Given the description of an element on the screen output the (x, y) to click on. 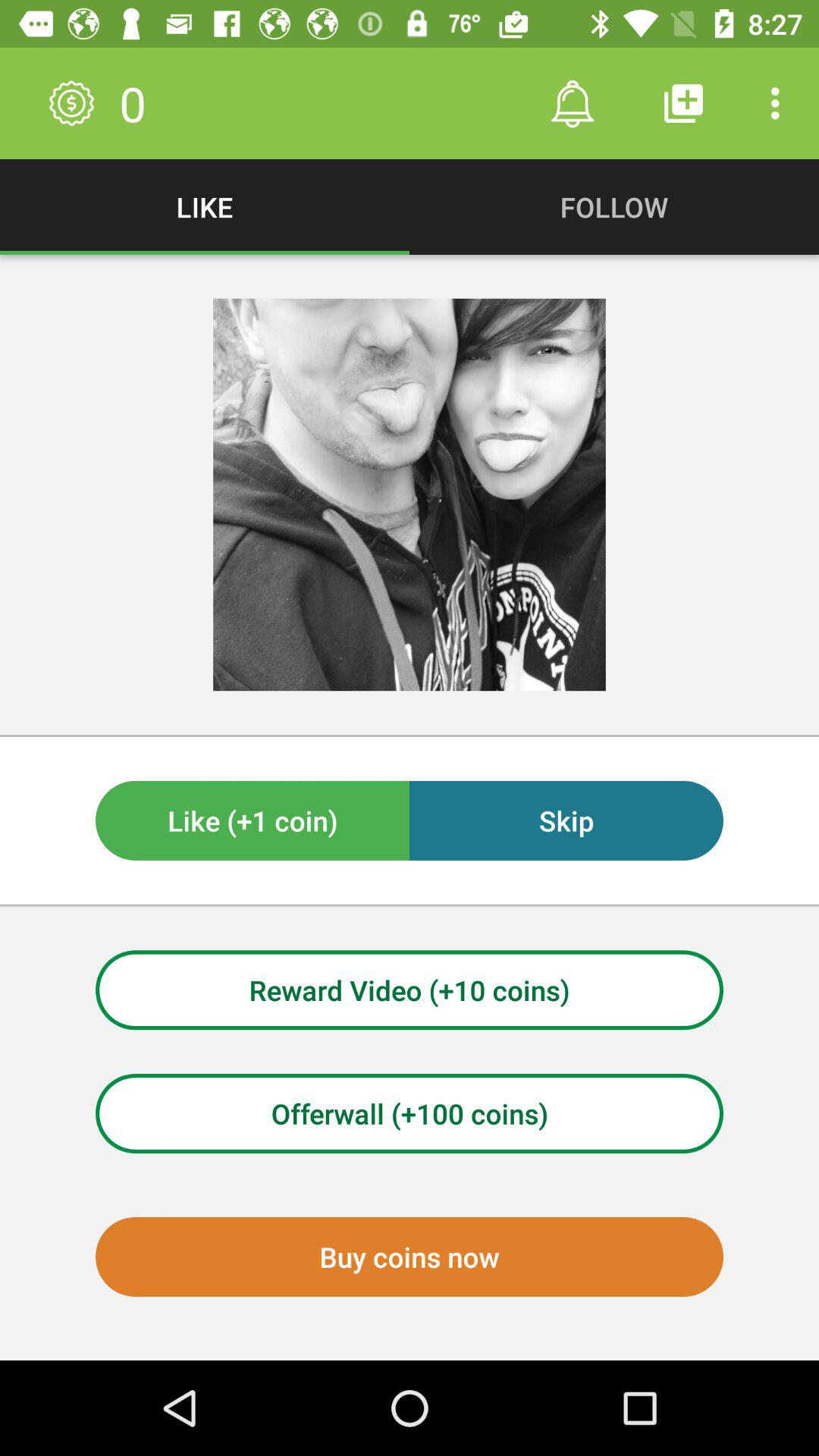
turn on offerwall (+100 coins) (409, 1113)
